Given the description of an element on the screen output the (x, y) to click on. 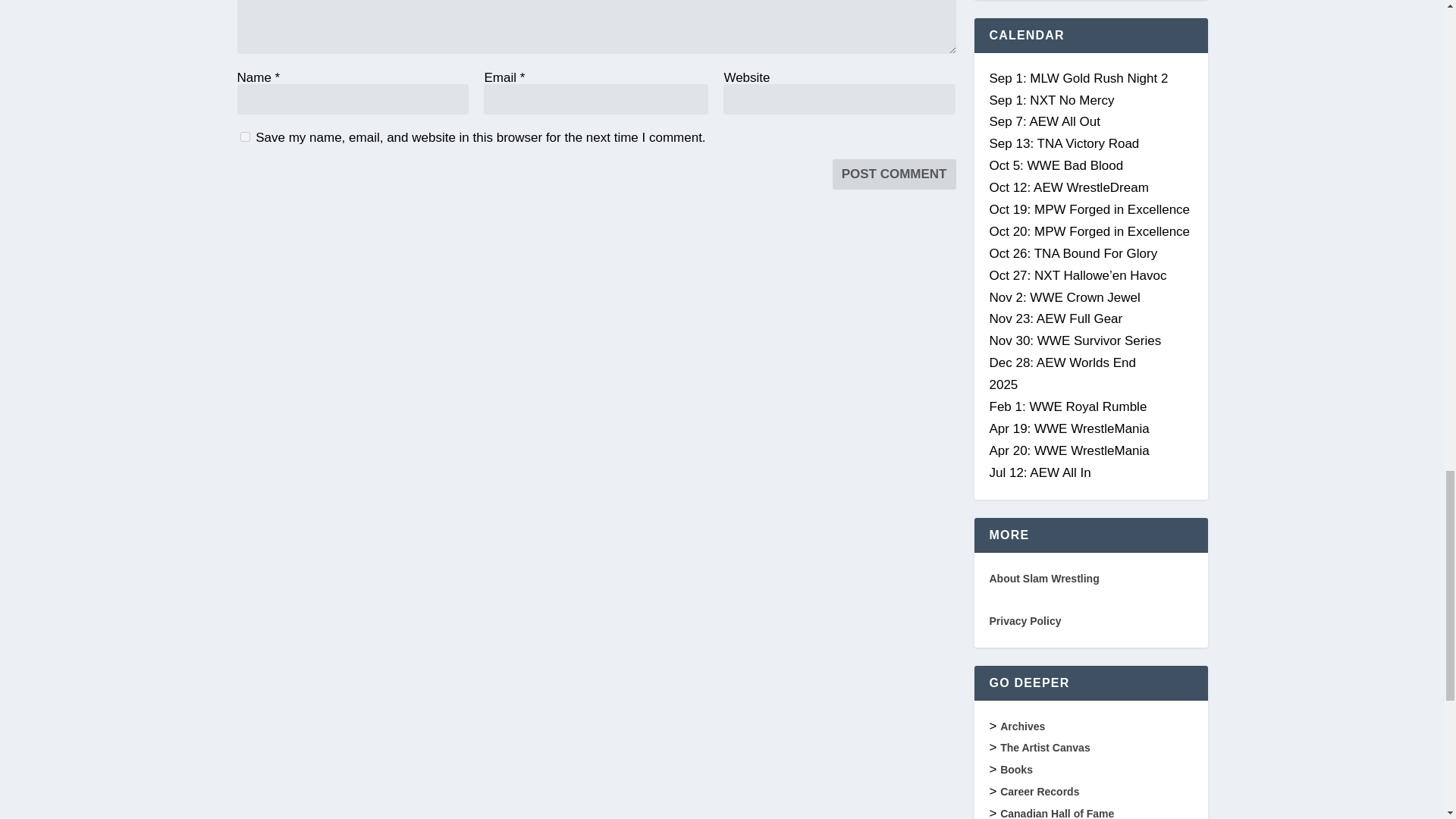
Post Comment (894, 173)
Post Comment (894, 173)
yes (244, 136)
